Given the description of an element on the screen output the (x, y) to click on. 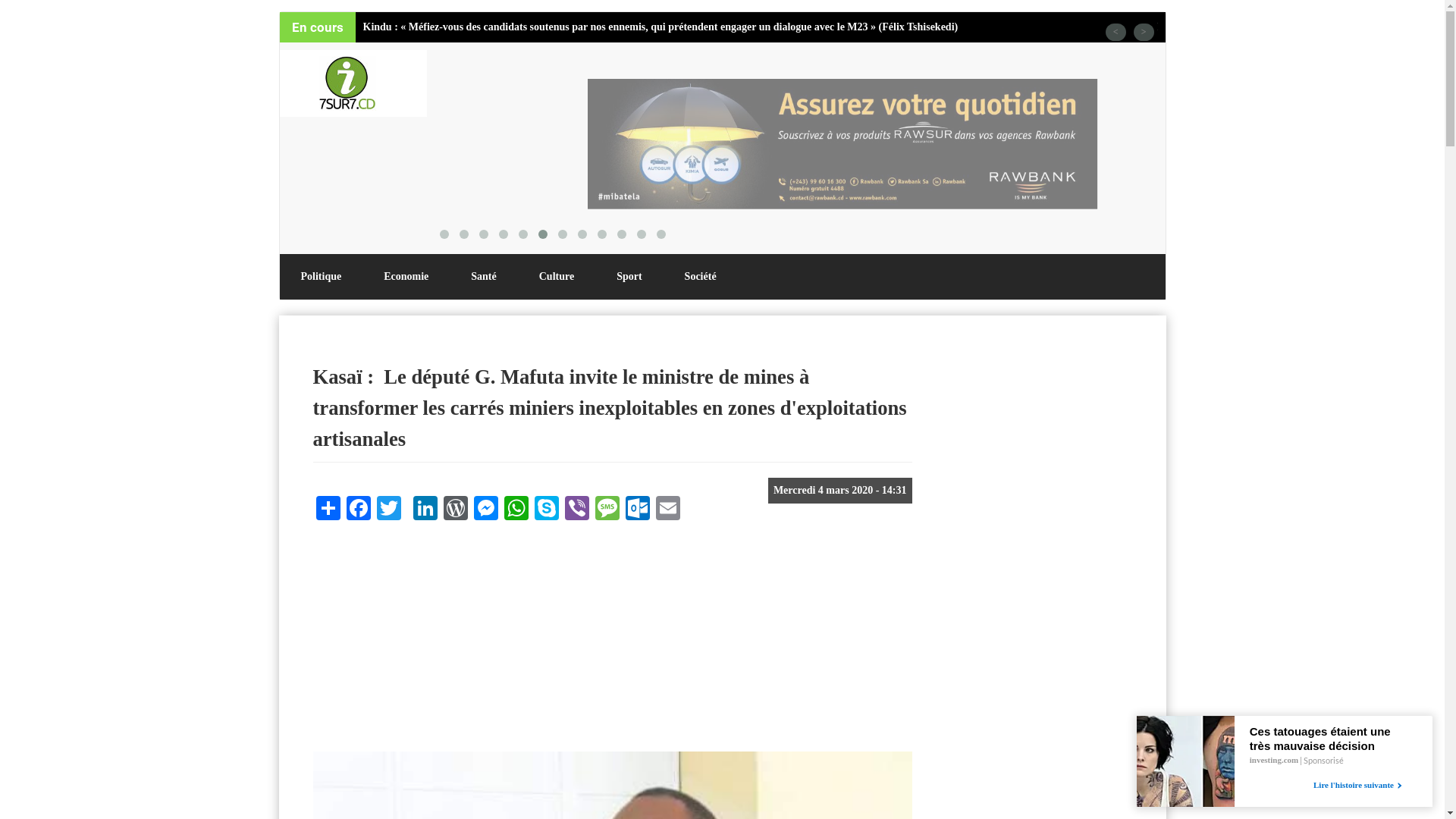
Messenger Element type: text (485, 506)
Skype Element type: text (545, 506)
Outlook.com Element type: text (636, 506)
Accueil Element type: hover (352, 83)
WordPress Element type: text (454, 506)
Economie Element type: text (405, 276)
Sport Element type: text (628, 276)
Aller au contenu principal Element type: text (0, 11)
Twitter Element type: text (388, 506)
Politique Element type: text (320, 276)
Facebook Element type: text (357, 506)
LinkedIn Element type: text (424, 506)
Share Element type: text (327, 506)
WhatsApp Element type: text (515, 506)
Email Element type: text (667, 506)
Culture Element type: text (556, 276)
Advertisement Element type: hover (1028, 588)
Viber Element type: text (576, 506)
Advertisement Element type: hover (611, 641)
Message Element type: text (606, 506)
